Given the description of an element on the screen output the (x, y) to click on. 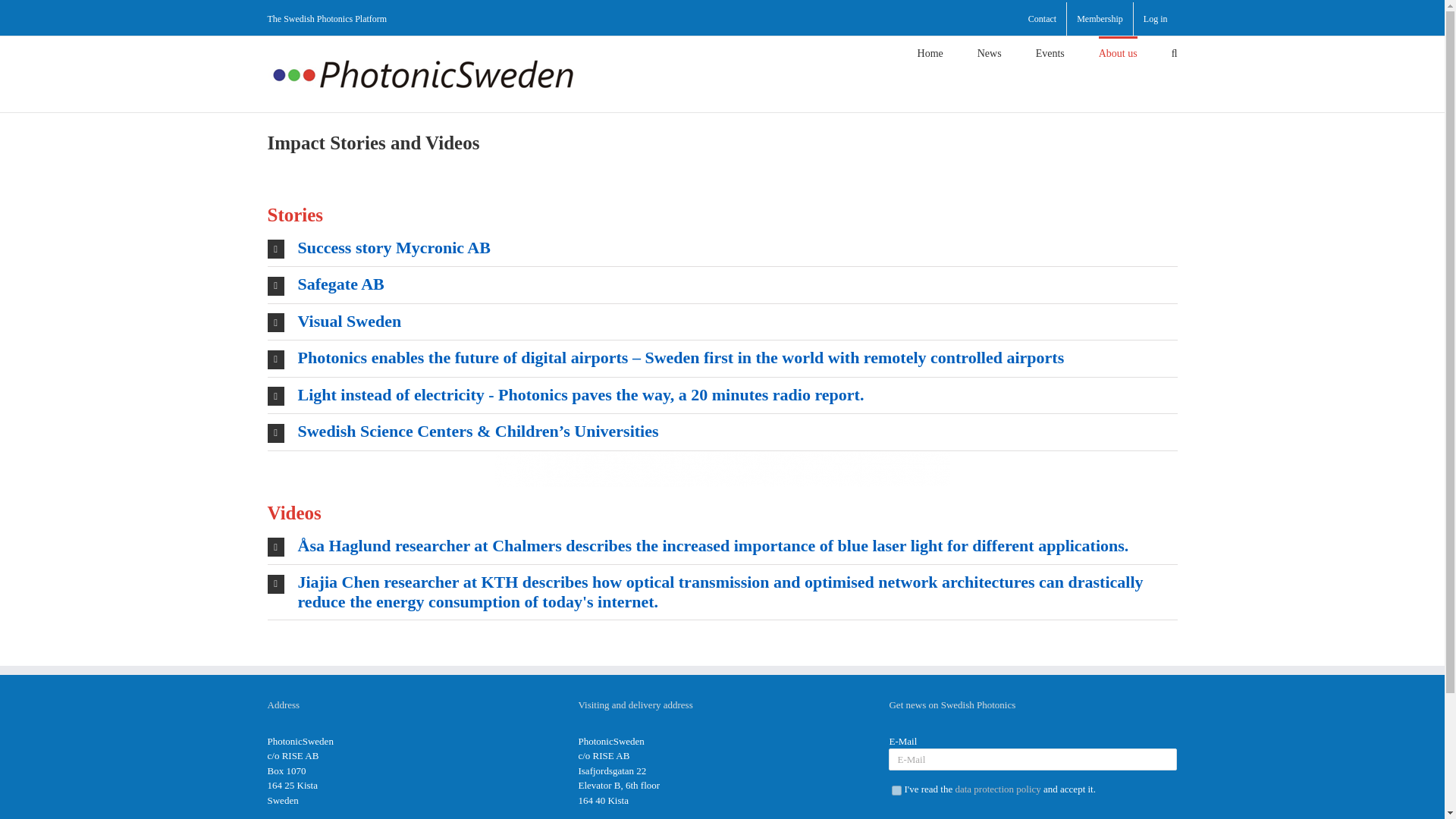
Log in (1155, 19)
Membership (1099, 19)
Contact (1041, 19)
